Given the description of an element on the screen output the (x, y) to click on. 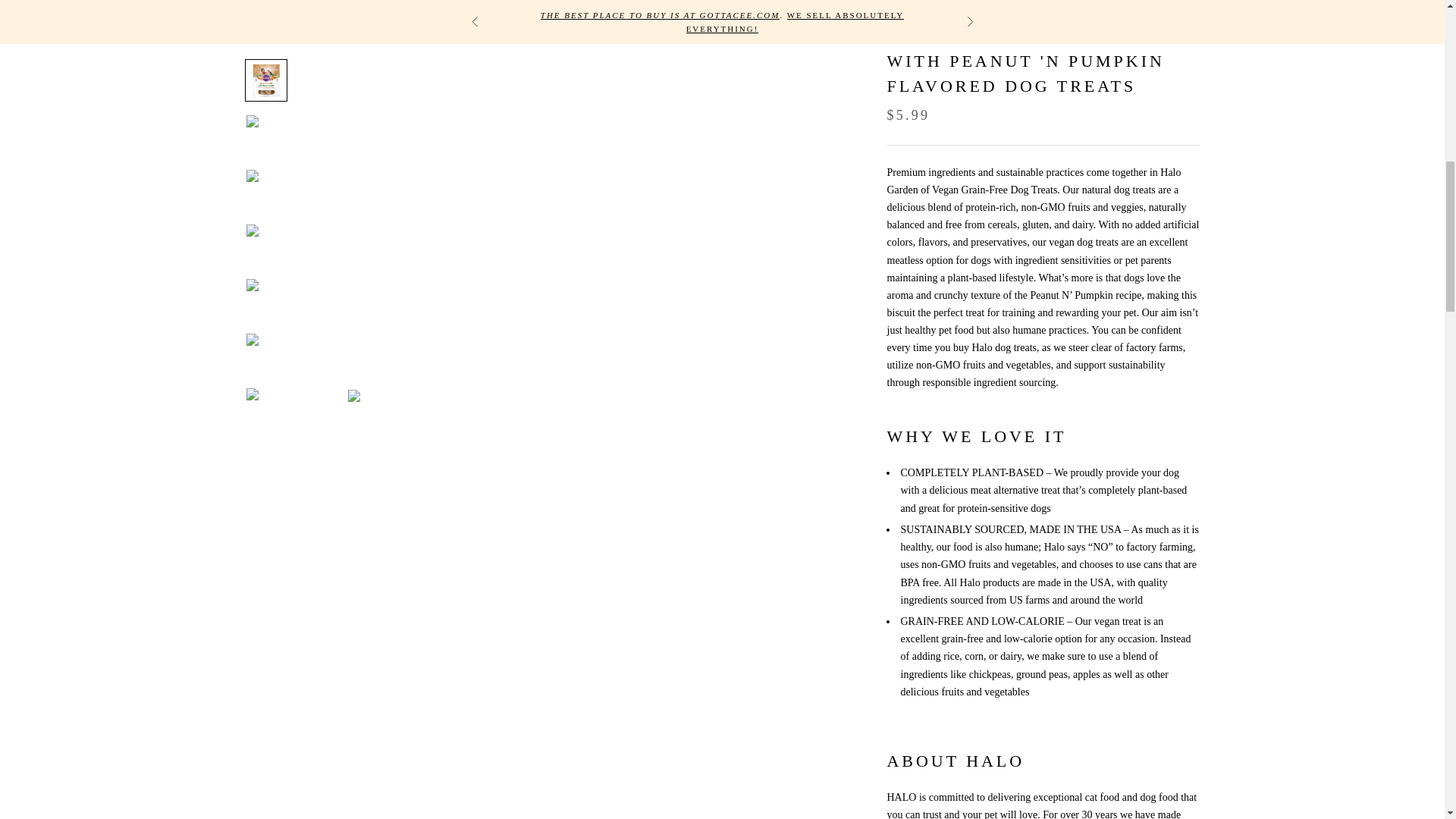
Decrease quantity (967, 804)
Decrease quantity (903, 804)
1 (935, 804)
